Given the description of an element on the screen output the (x, y) to click on. 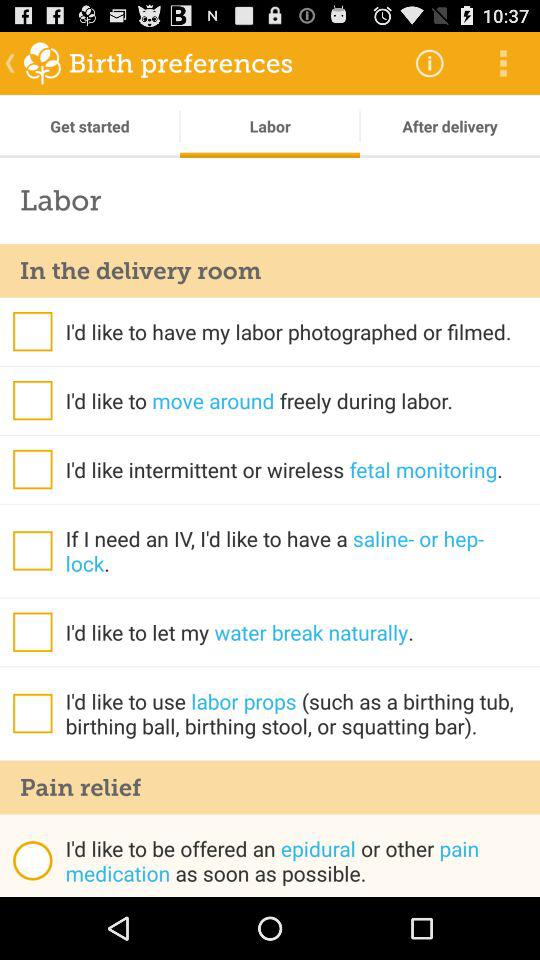
launch the item below pain relief (32, 860)
